Given the description of an element on the screen output the (x, y) to click on. 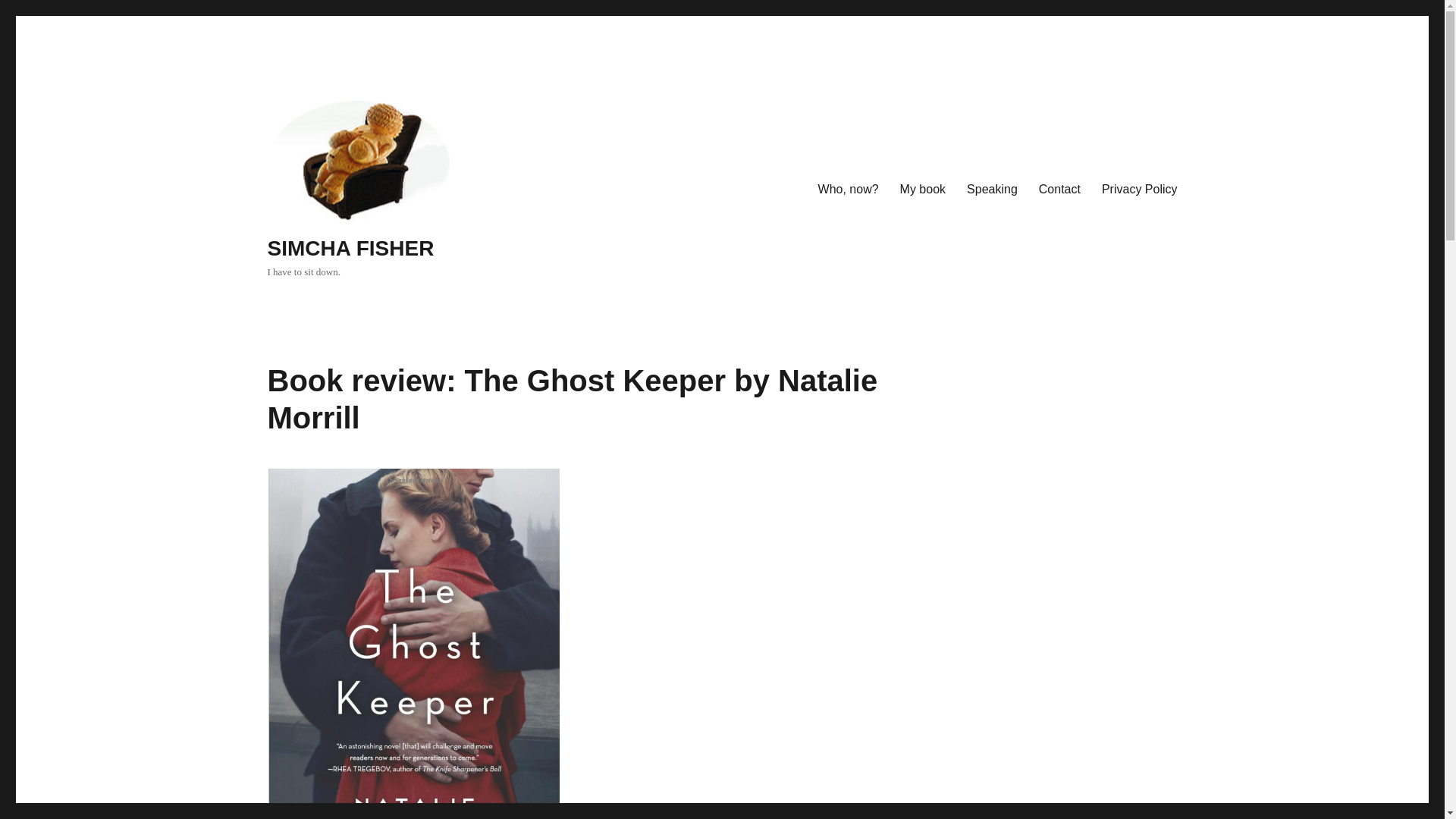
Who, now? (848, 189)
My book (922, 189)
Contact (1058, 189)
Speaking (991, 189)
Privacy Policy (1139, 189)
SIMCHA FISHER (349, 248)
